Given the description of an element on the screen output the (x, y) to click on. 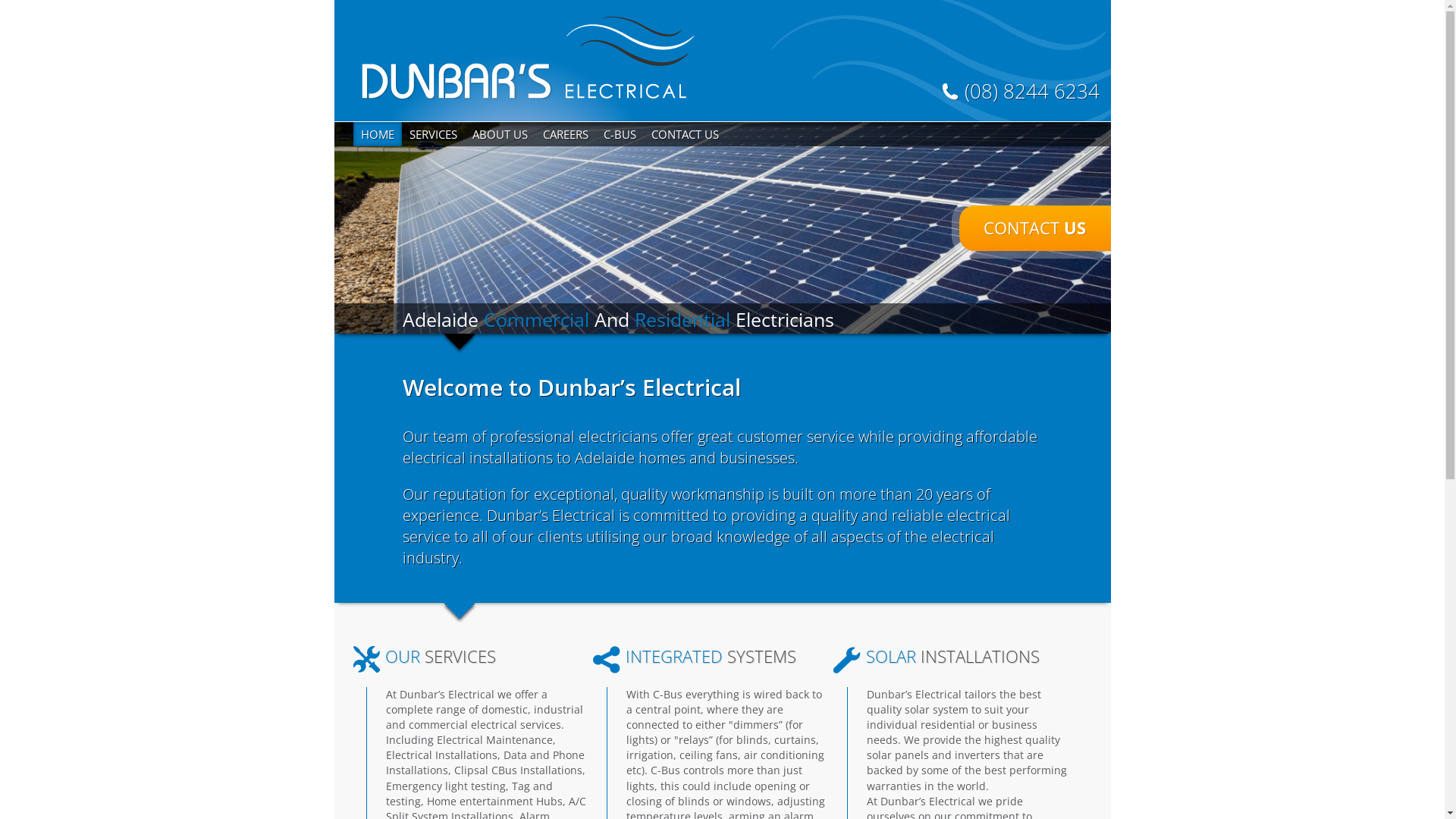
Dunbar's Electrical Element type: text (527, 58)
HOME Element type: text (377, 134)
CONTACT US Element type: text (1033, 227)
CONTACT US Element type: text (684, 134)
ABOUT US Element type: text (499, 134)
CAREERS Element type: text (565, 134)
C-BUS Element type: text (619, 134)
SERVICES Element type: text (432, 134)
